Given the description of an element on the screen output the (x, y) to click on. 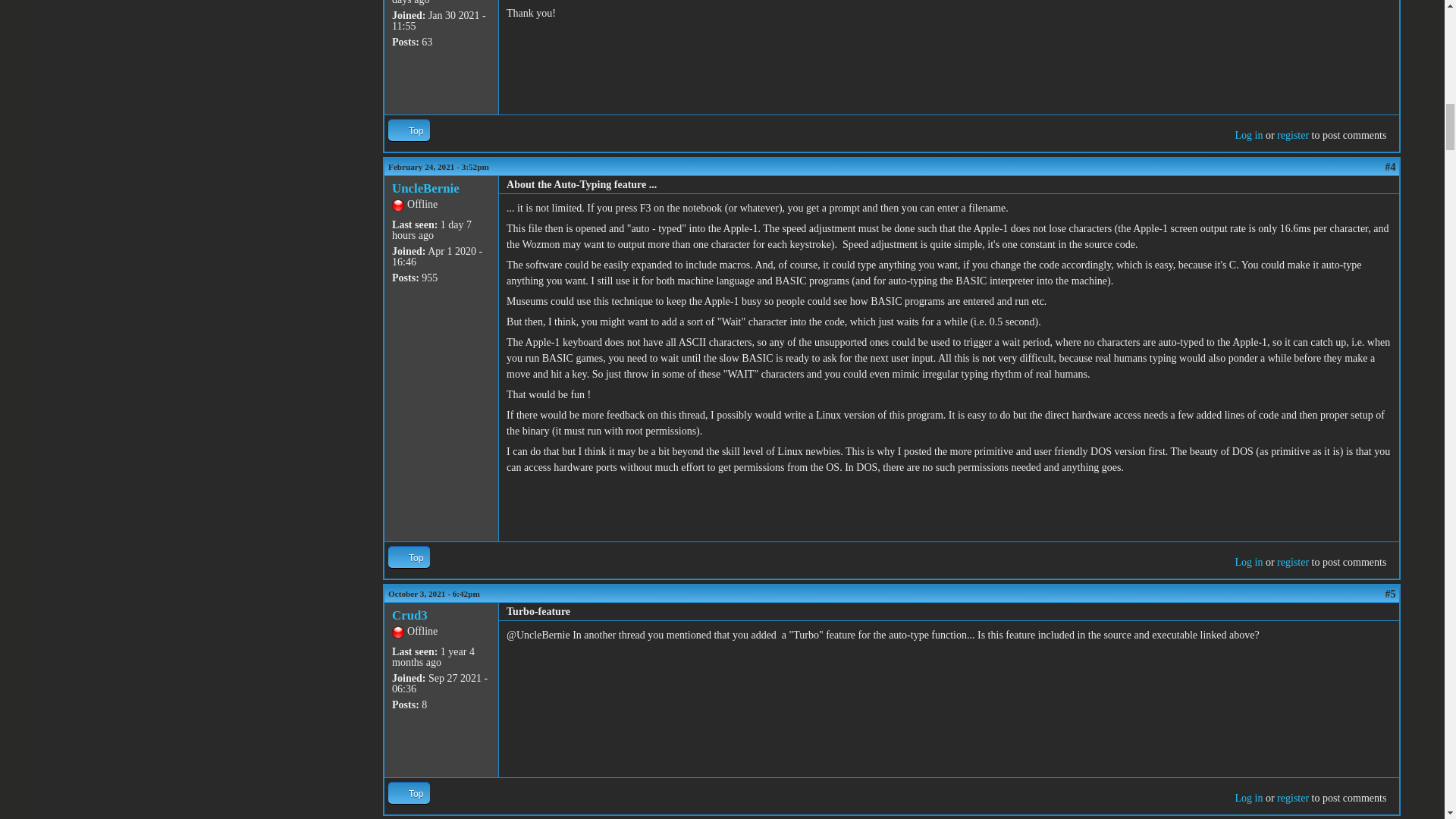
Log in (1248, 134)
Jump to top of page (408, 557)
Jump to top of page (408, 129)
Top (408, 129)
View user profile. (425, 187)
register (1292, 134)
UncleBernie (425, 187)
View user profile. (409, 615)
